Given the description of an element on the screen output the (x, y) to click on. 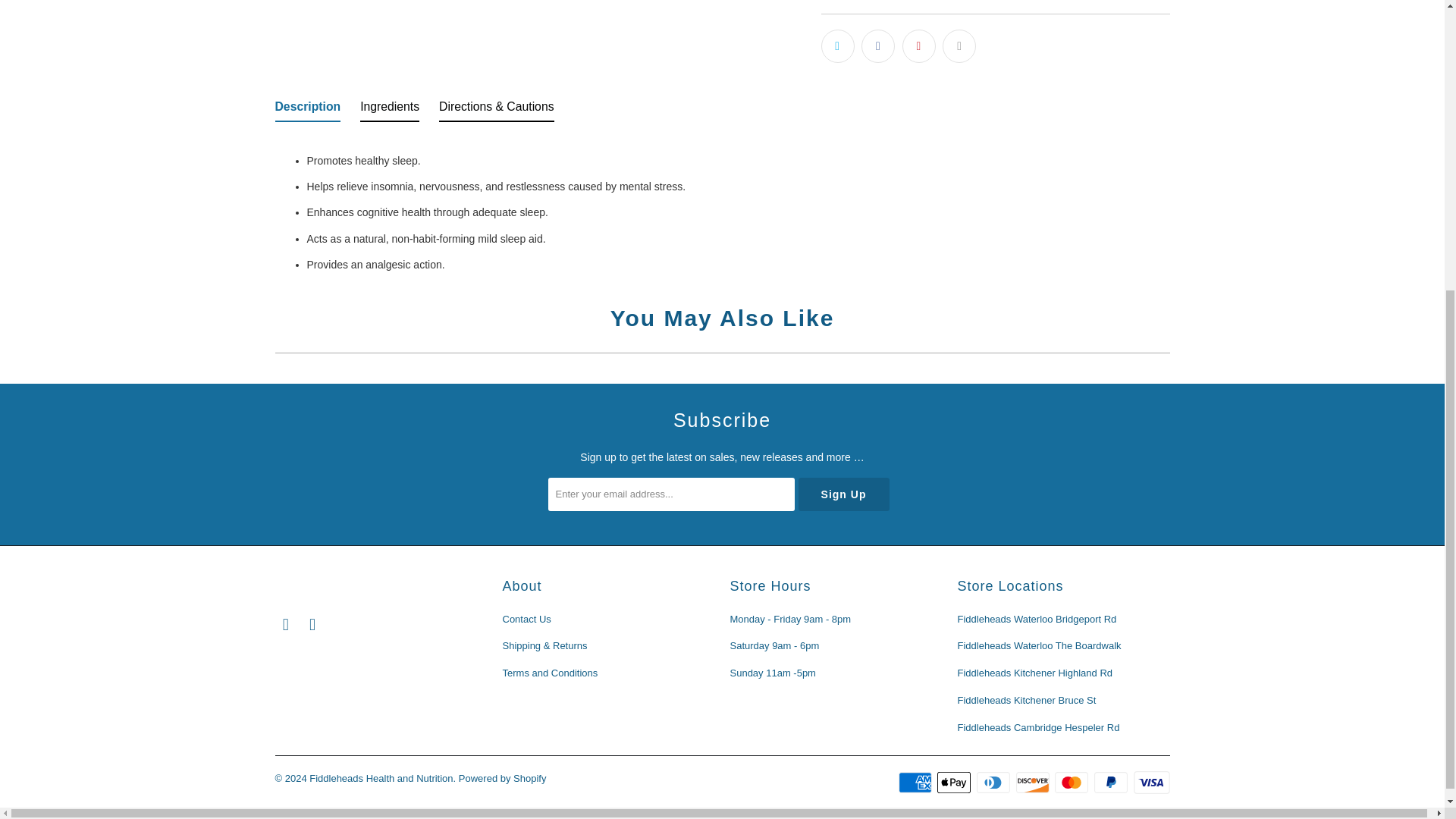
Email this to a friend (958, 46)
Share this on Pinterest (919, 46)
PayPal (1112, 782)
Fiddleheads Health and Nutrition on Instagram (312, 624)
Visa (1150, 782)
Discover (1034, 782)
Apple Pay (955, 782)
Diners Club (994, 782)
American Express (916, 782)
Sign Up (842, 494)
